Given the description of an element on the screen output the (x, y) to click on. 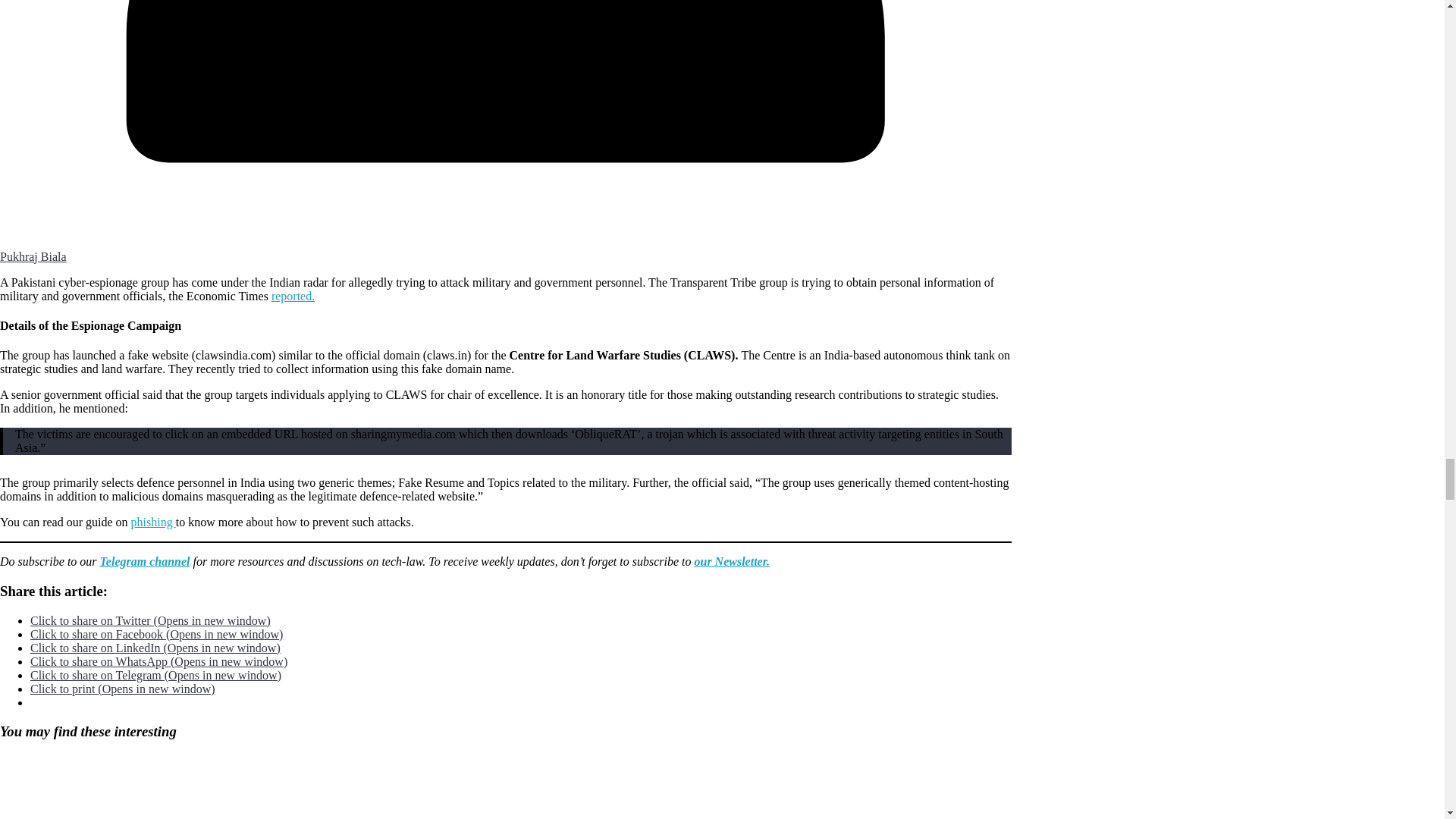
Click to share on LinkedIn (155, 647)
our Newsletter. (732, 561)
Pukhraj Biala (33, 256)
Click to share on WhatsApp (158, 661)
Click to print (122, 688)
phishing (153, 521)
Pukhraj Biala (33, 256)
reported. (292, 295)
Click to share on Facebook (156, 634)
Click to share on Twitter (150, 620)
